Given the description of an element on the screen output the (x, y) to click on. 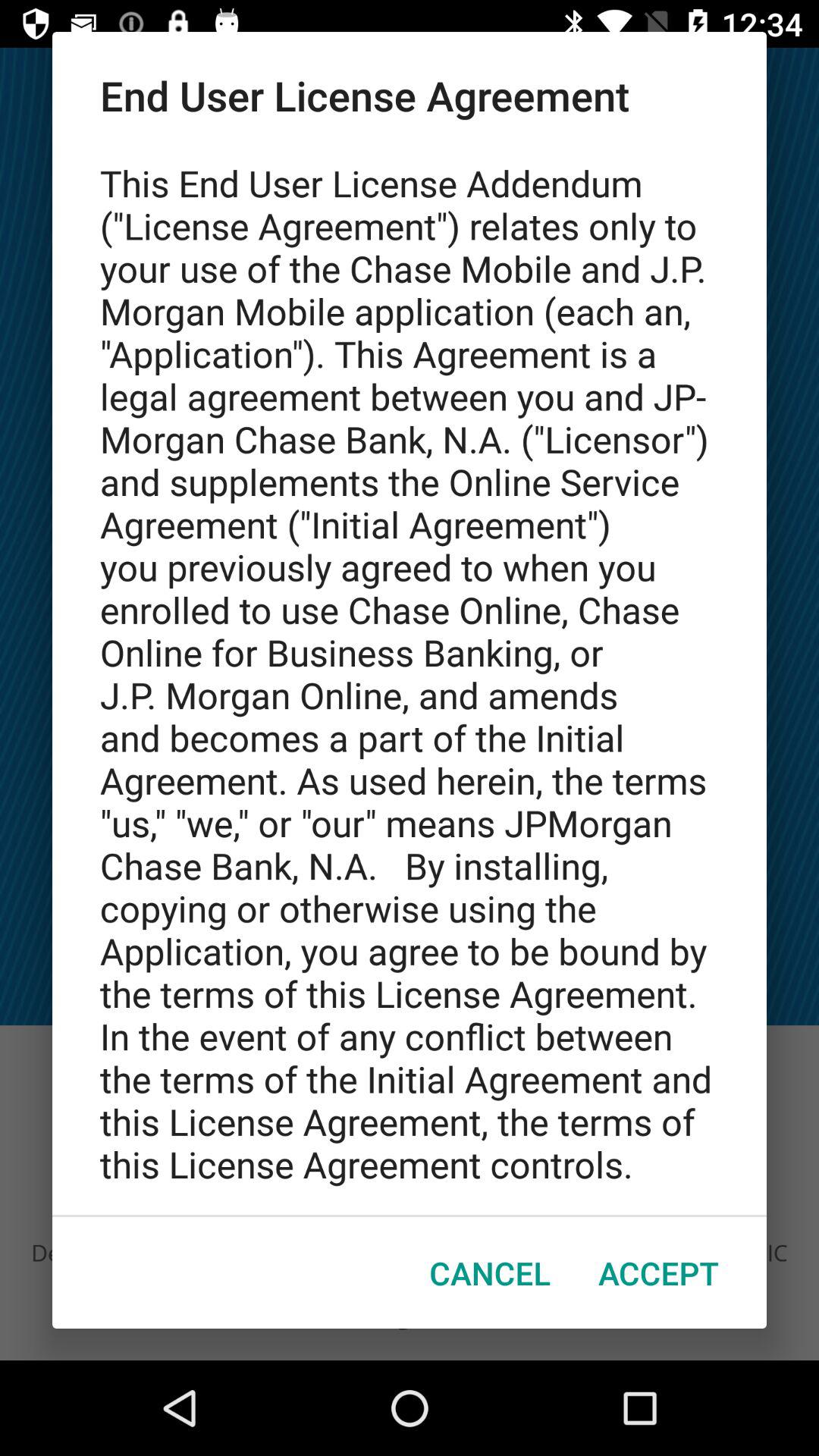
launch the icon next to cancel item (658, 1272)
